Given the description of an element on the screen output the (x, y) to click on. 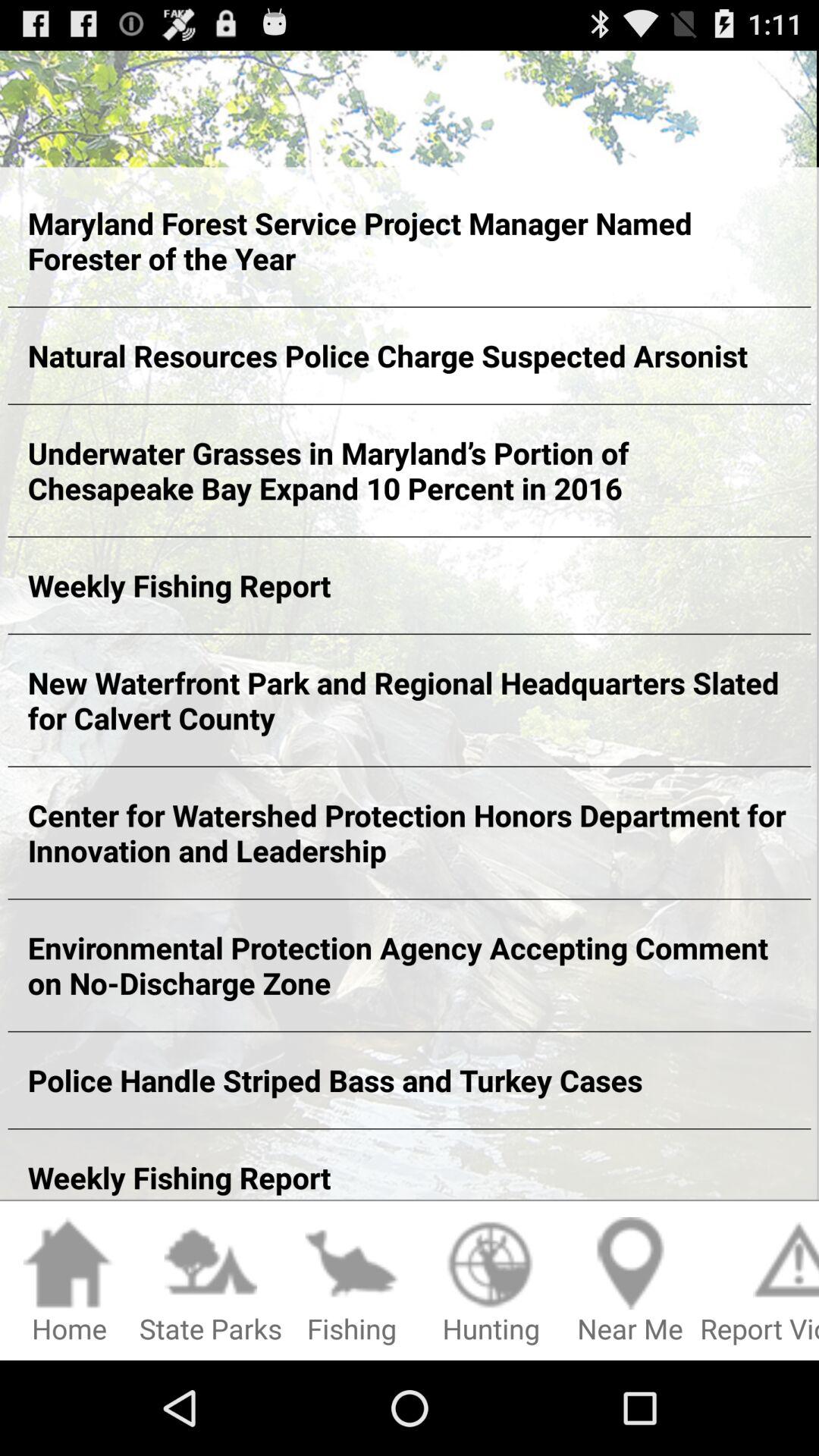
scroll to home (69, 1282)
